Given the description of an element on the screen output the (x, y) to click on. 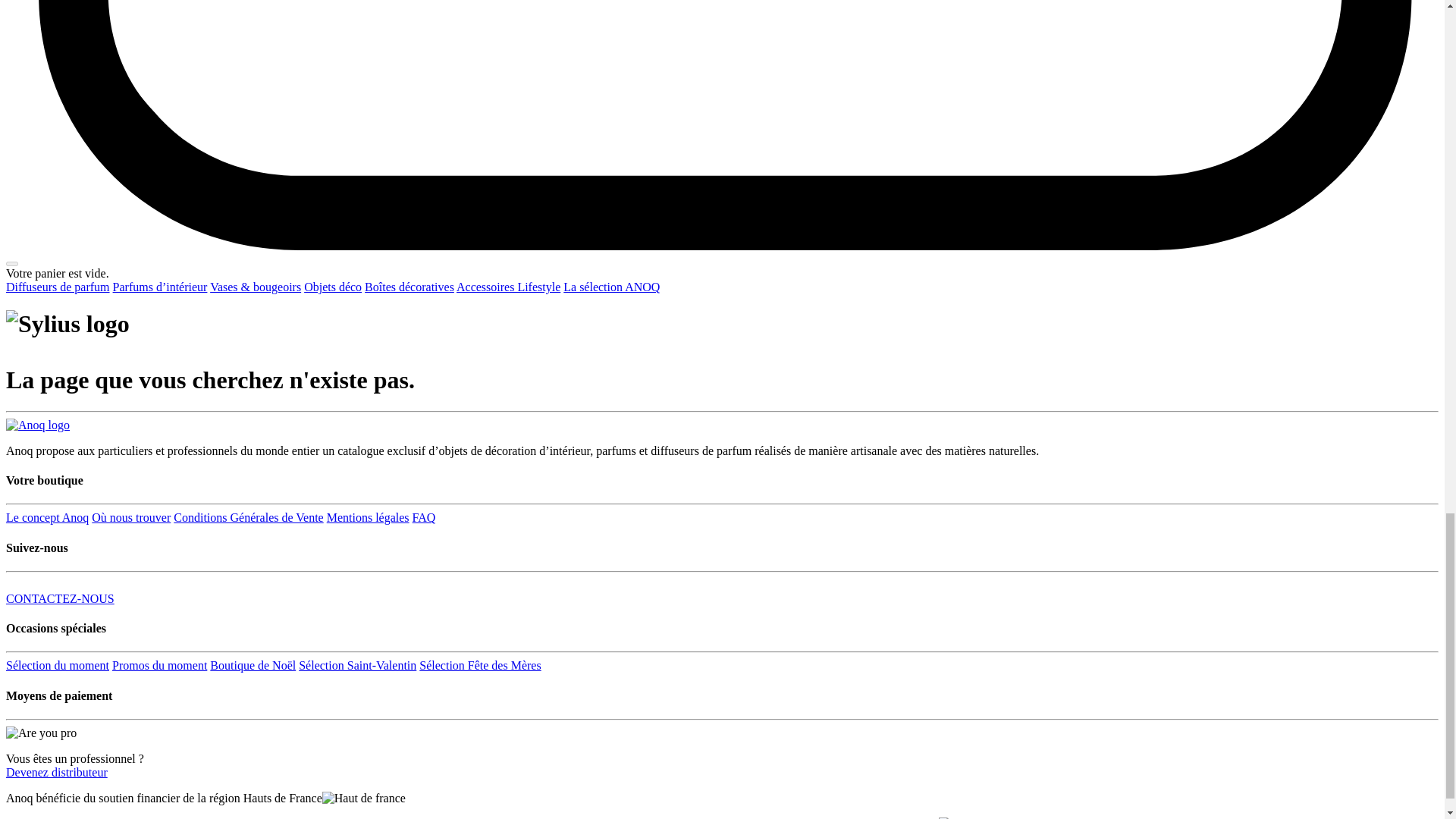
Devenez distributeur (56, 771)
Promos du moment (159, 665)
CONTACTEZ-NOUS (60, 598)
Le concept Anoq (46, 517)
FAQ (423, 517)
Diffuseurs de parfum (57, 286)
Accessoires Lifestyle (508, 286)
